Given the description of an element on the screen output the (x, y) to click on. 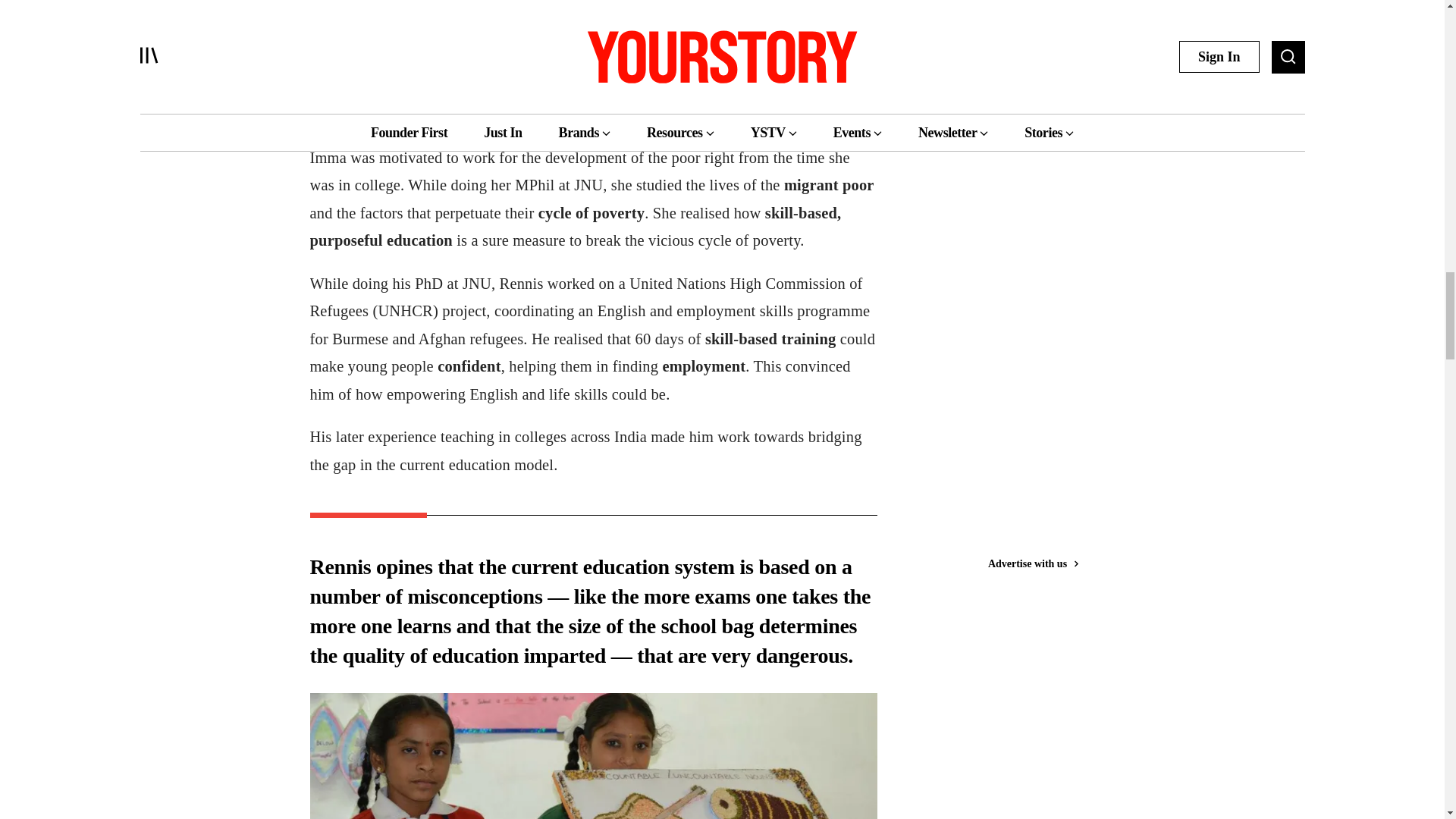
3rd party ad content (1043, 27)
Advertise with us (1032, 66)
